Given the description of an element on the screen output the (x, y) to click on. 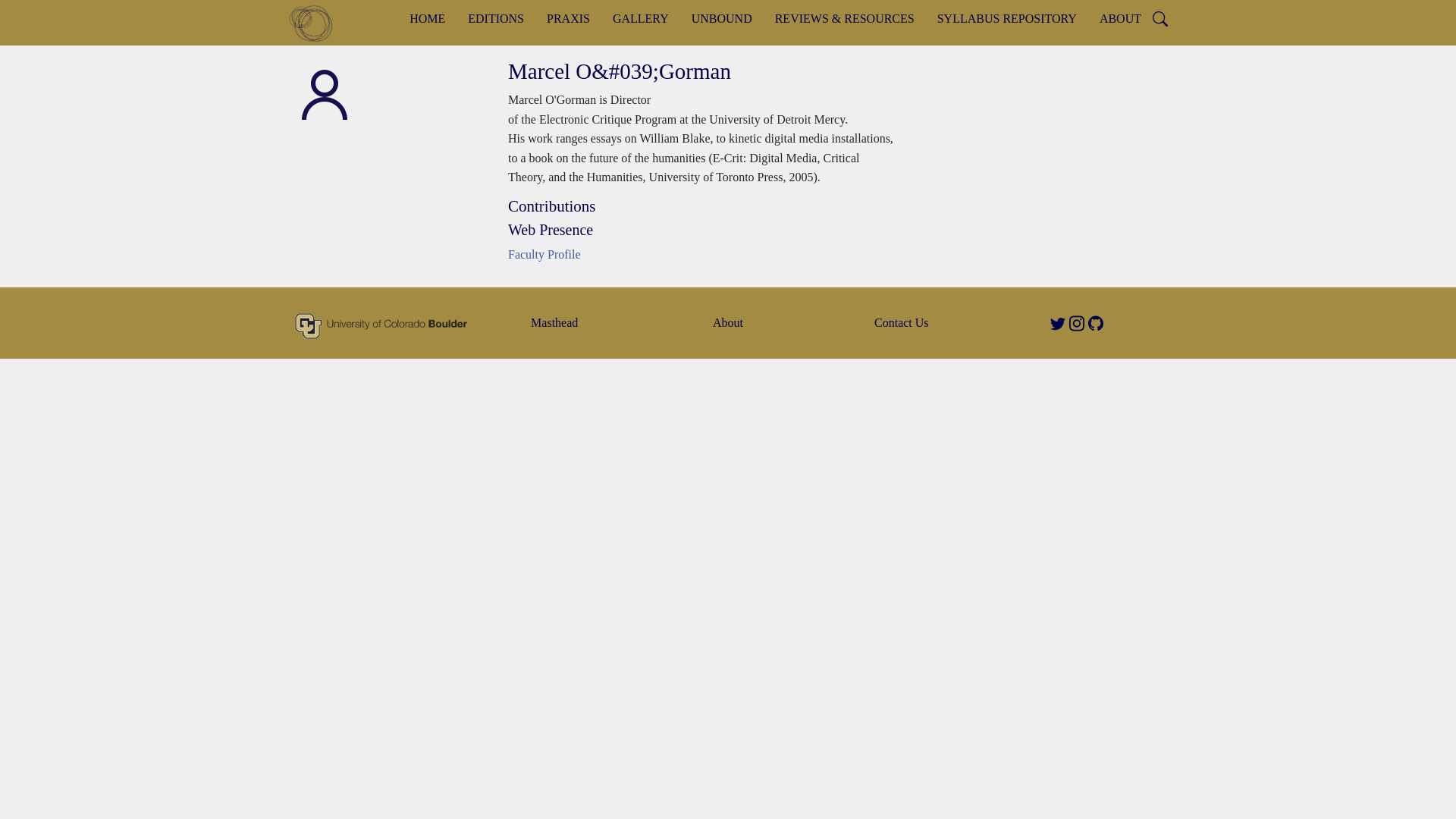
PRAXIS (568, 18)
Home (316, 22)
ABOUT (1120, 18)
Contact Us (901, 322)
HOME (427, 18)
Faculty Profile (544, 254)
GALLERY (640, 18)
EDITIONS (496, 18)
Masthead (554, 322)
SYLLABUS REPOSITORY (1006, 18)
UNBOUND (720, 18)
About (727, 322)
